Given the description of an element on the screen output the (x, y) to click on. 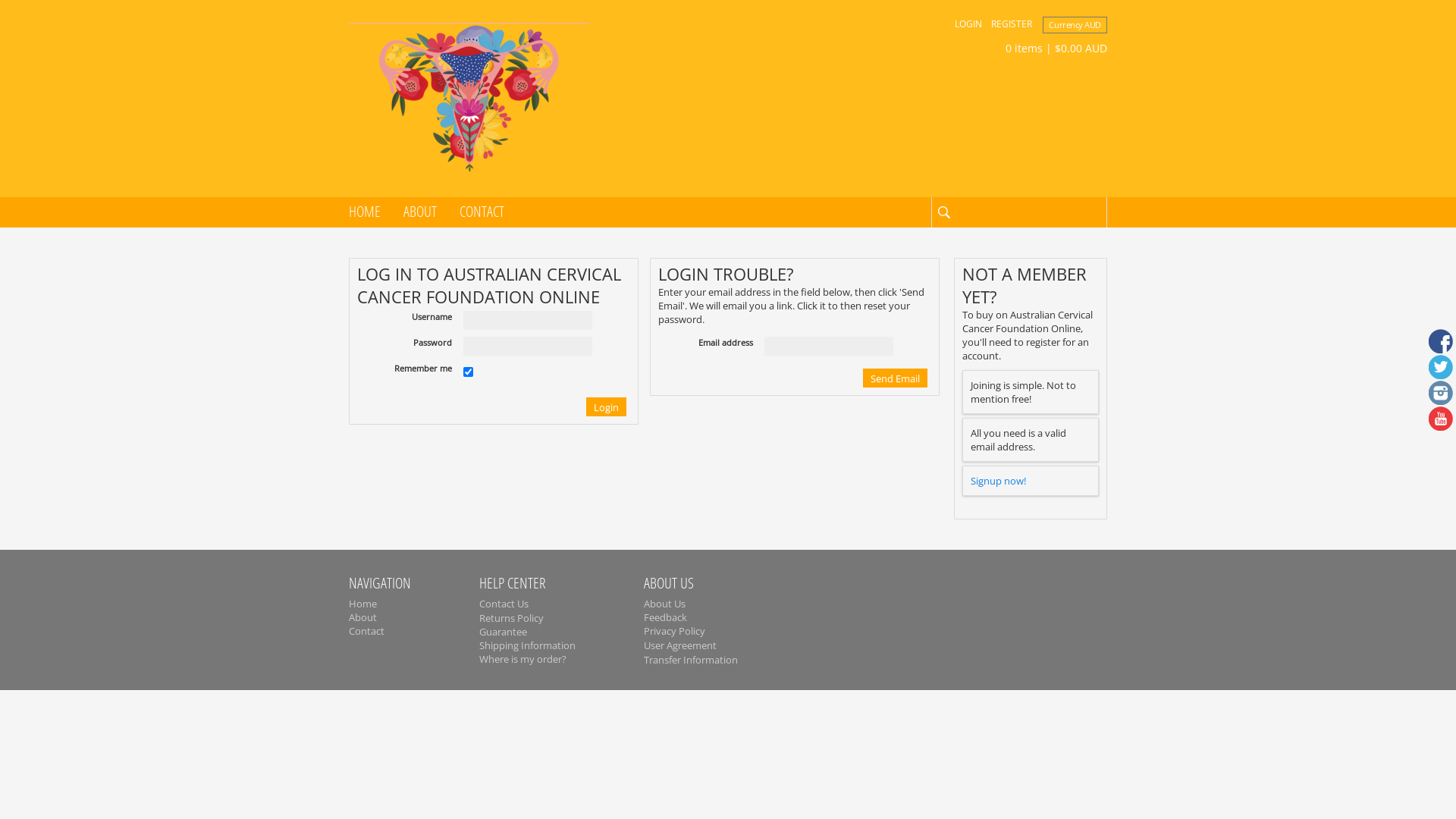
Where is my order? Element type: text (522, 658)
REGISTER Element type: text (1011, 23)
User Agreement Element type: text (679, 645)
0 items | $0.00 AUD Element type: text (1044, 48)
Contact Us Element type: text (503, 603)
CONTACT Element type: text (481, 211)
Shipping Information Element type: text (527, 645)
HOME Element type: text (364, 211)
Guarantee Element type: text (503, 631)
ABOUT Element type: text (419, 211)
Feedback Element type: text (665, 617)
search Element type: text (942, 212)
Send email Element type: text (894, 377)
Signup now! Element type: text (998, 480)
About Element type: text (362, 617)
Login Element type: text (606, 406)
Home Element type: text (362, 603)
Contact Element type: text (366, 630)
Transfer Information Element type: text (690, 659)
Privacy Policy Element type: text (674, 630)
About Us Element type: text (664, 603)
Currency AUD Element type: text (1074, 24)
Returns Policy Element type: text (511, 617)
LOGIN Element type: text (968, 23)
